Given the description of an element on the screen output the (x, y) to click on. 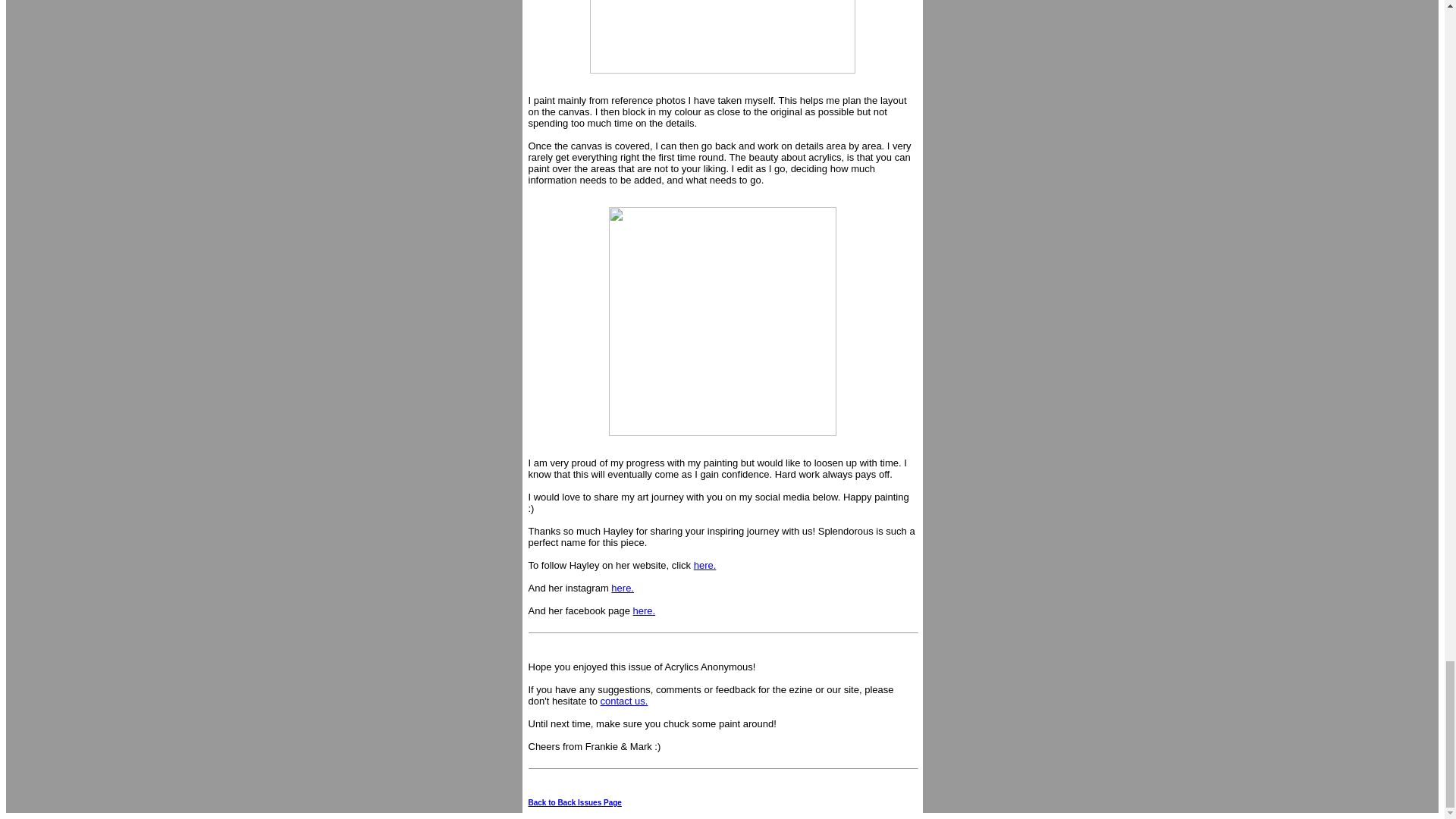
here. (705, 564)
contact us. (623, 700)
here. (644, 610)
Back to Back Issues Page (574, 802)
here. (622, 587)
